Given the description of an element on the screen output the (x, y) to click on. 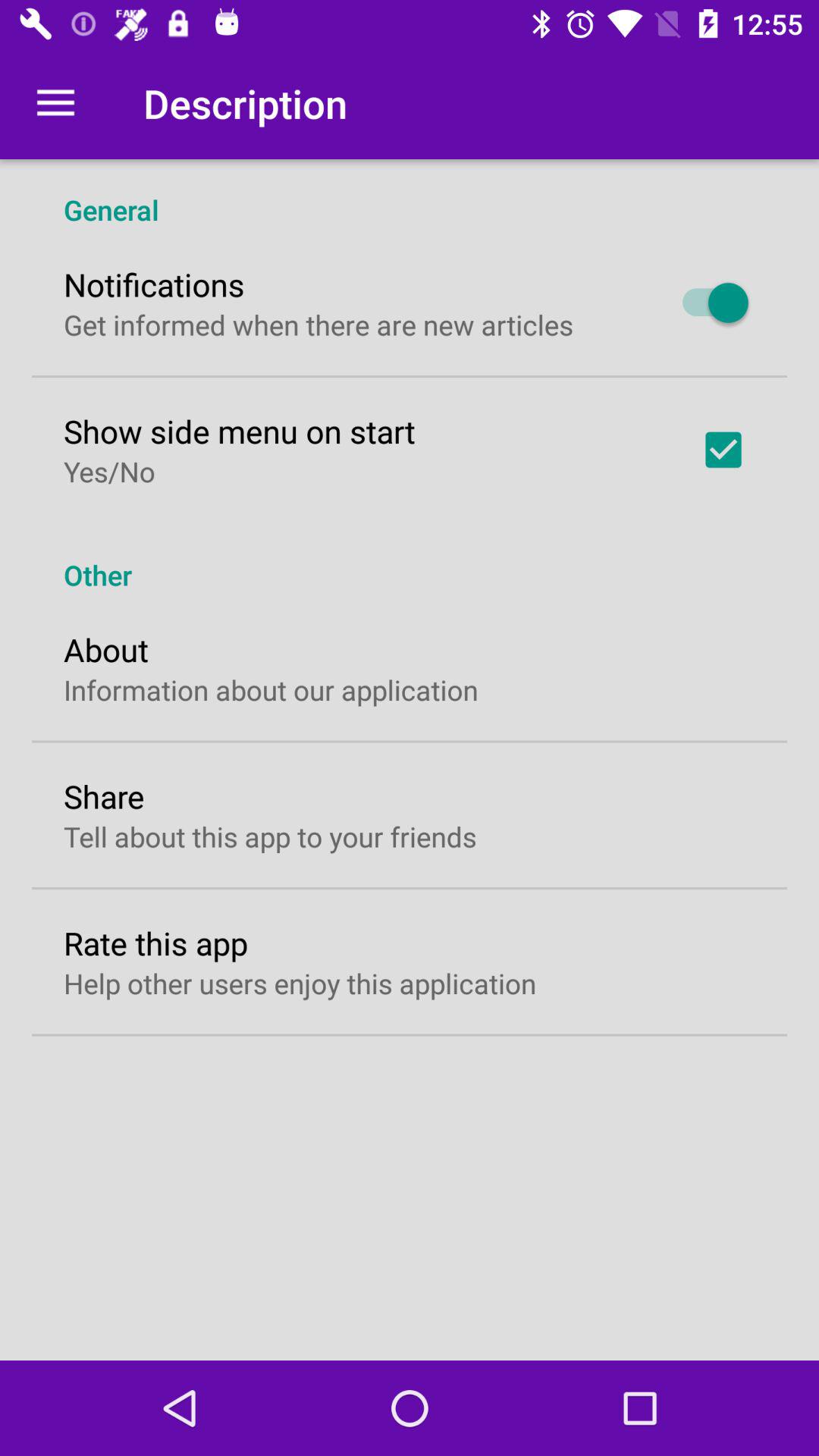
launch icon below general item (707, 302)
